Given the description of an element on the screen output the (x, y) to click on. 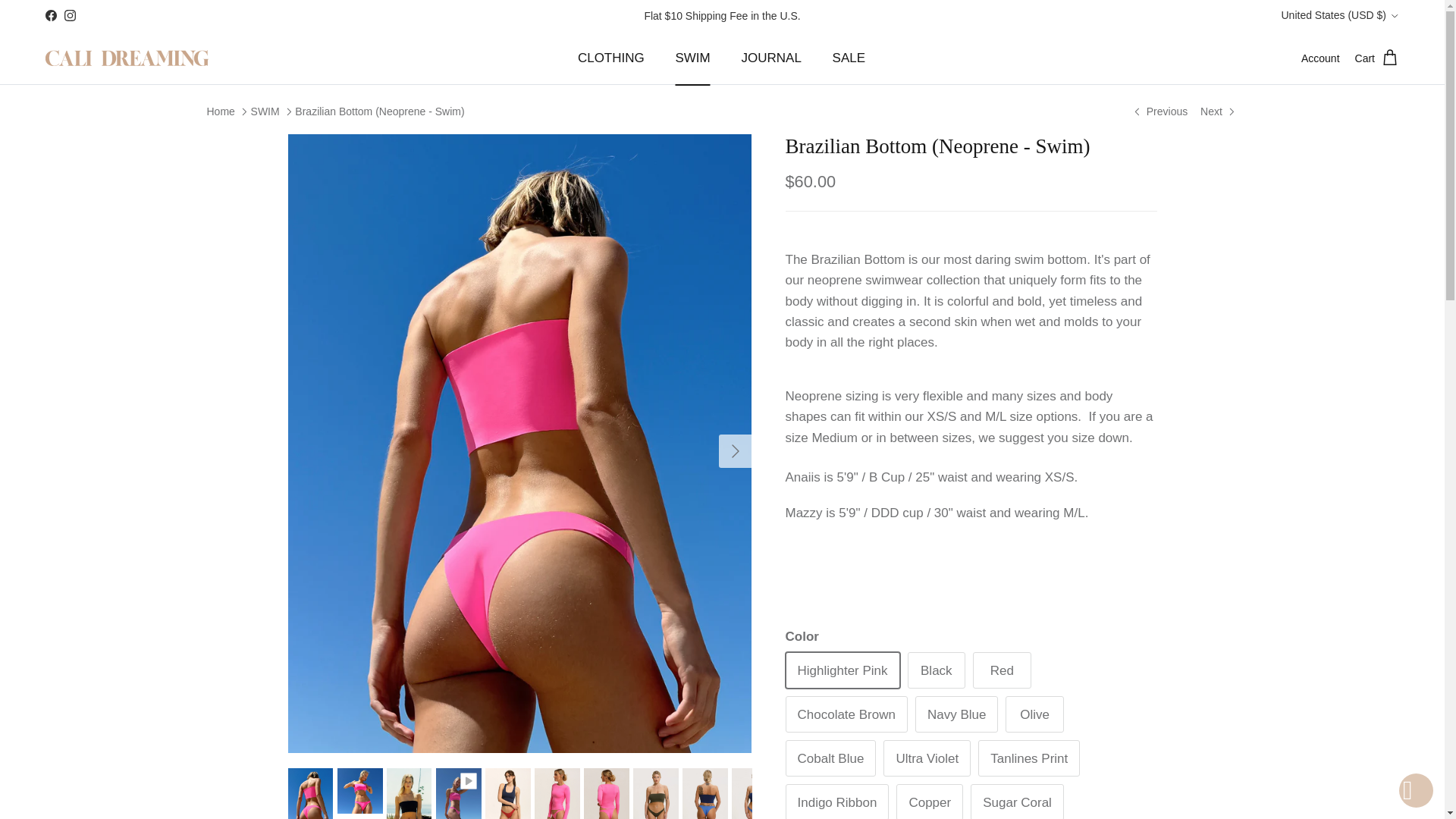
CALi DREAMiNG on Instagram (69, 15)
Facebook (50, 15)
SWIM (692, 58)
CALi DREAMiNG (126, 57)
Home (220, 111)
CALi DREAMiNG on Facebook (50, 15)
Account (1320, 57)
Instagram (69, 15)
CLOTHING (611, 58)
SALE (848, 58)
JOURNAL (771, 58)
Cart (1377, 57)
